Given the description of an element on the screen output the (x, y) to click on. 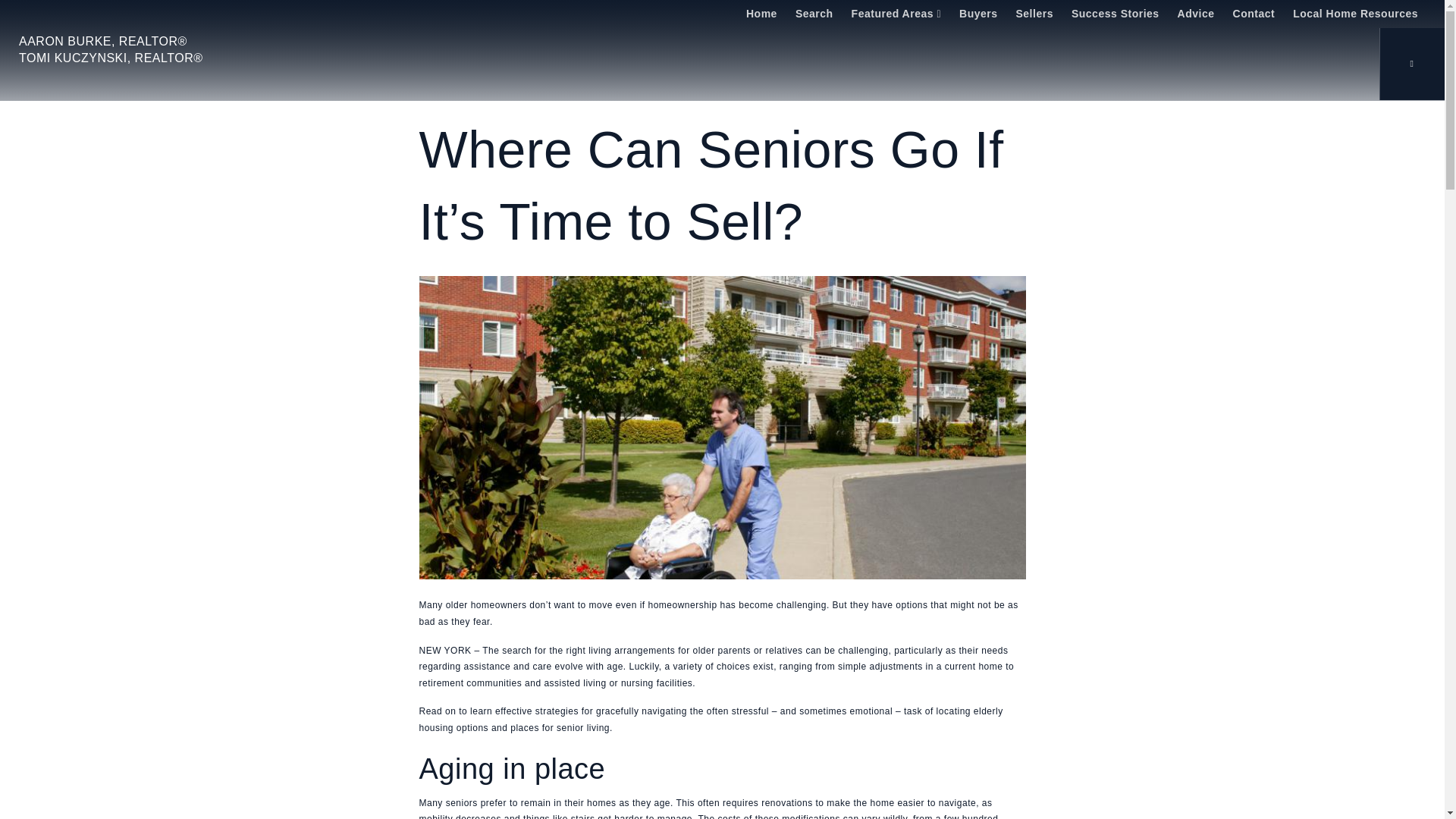
Buyers (978, 13)
Search (814, 13)
Success Stories (1115, 13)
Sellers (1034, 13)
Contact (1254, 13)
Advice (1196, 13)
Local Home Resources (1355, 13)
Featured Areas (896, 13)
Home (761, 13)
